Given the description of an element on the screen output the (x, y) to click on. 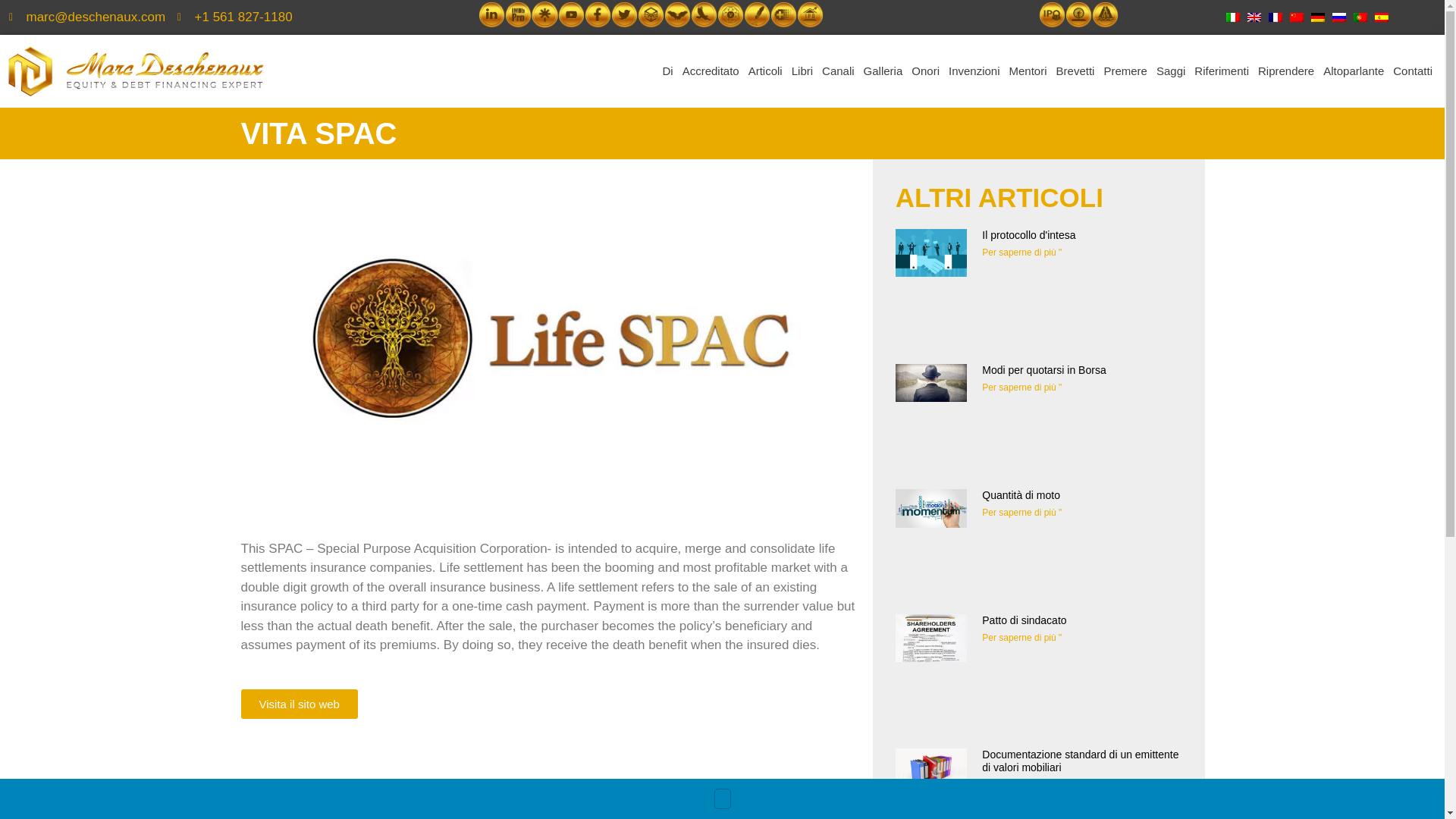
Profilo FaceBook - Marc Deschenaux (598, 14)
Youtube - Marc Deschenaux Official (571, 14)
Gruppo Deal Makers (650, 14)
Linktree Profile - Marc Deschenaux (544, 14)
Viveka (730, 14)
L'Aquila di Wall Street (703, 14)
Cascata perpetua (1105, 14)
finanzieri svizzeri (783, 14)
Aquila di Wall Street (676, 14)
Profilo Twitter - Marc Deschenaux (624, 14)
Corporazione Perpetua (1078, 14)
www.Deschenaux.com (757, 14)
Istituto IPO (810, 14)
Cascata IPO (1052, 14)
IMDb Pro (518, 14)
